Given the description of an element on the screen output the (x, y) to click on. 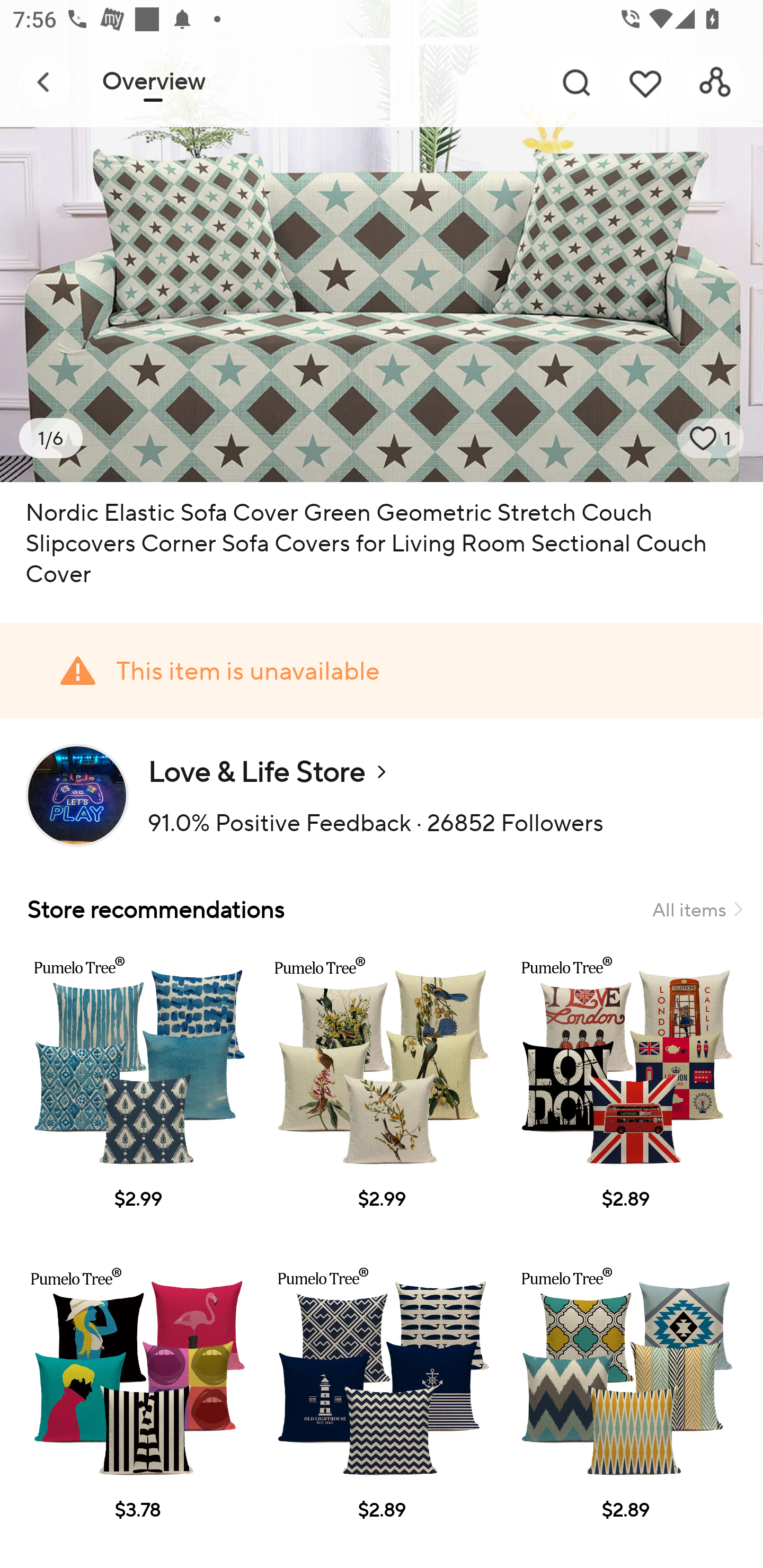
Navigate up (44, 82)
wish state 1 (710, 437)
All items (697, 909)
$2.99 (137, 1096)
$2.99 (381, 1096)
$2.89 (625, 1096)
$3.78 (137, 1407)
$2.89 (381, 1407)
$2.89 (625, 1407)
